Given the description of an element on the screen output the (x, y) to click on. 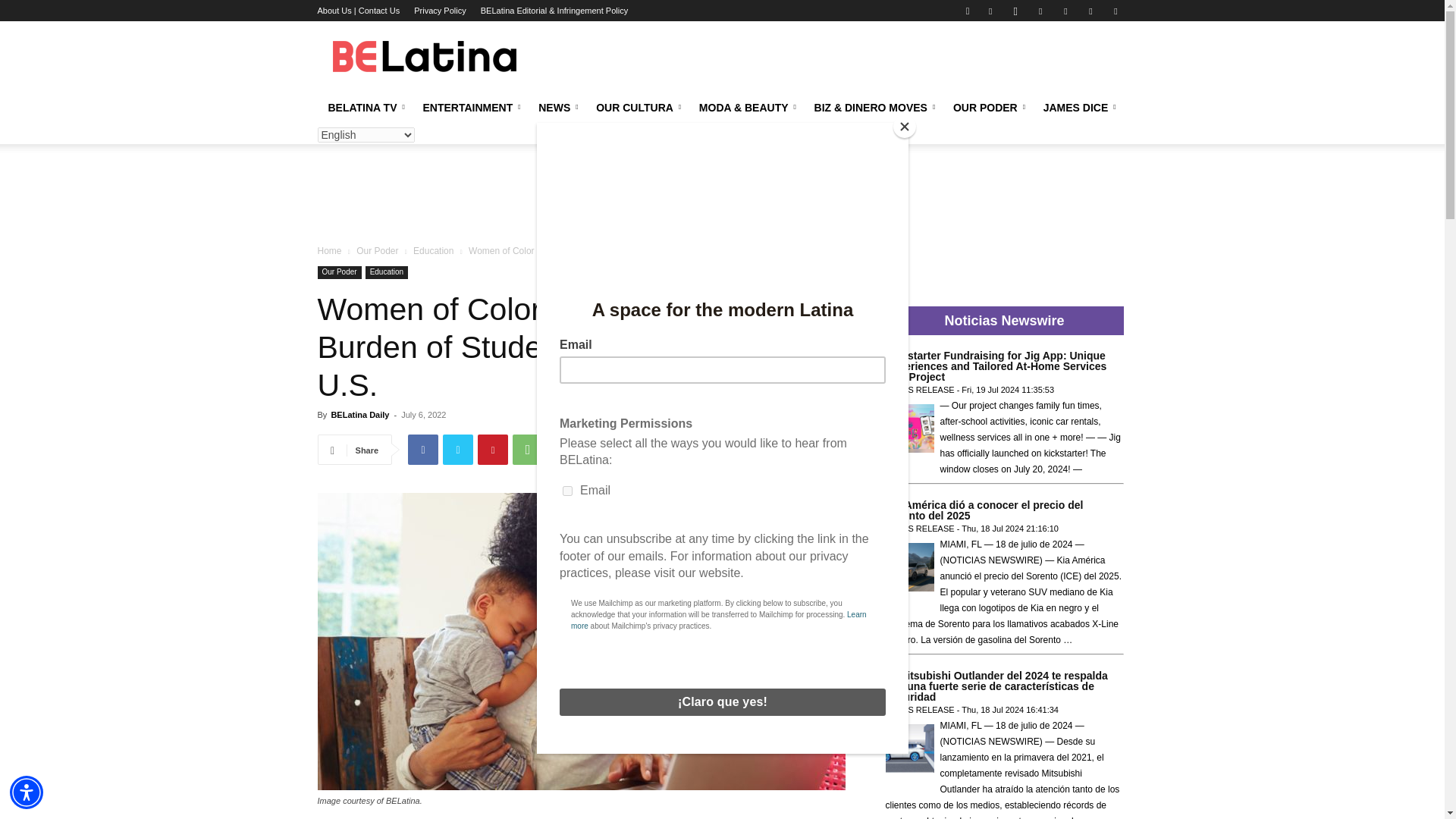
Linkedin (1040, 10)
Accessibility Menu (26, 792)
Twitter (1114, 10)
RSS (1090, 10)
Instagram (1015, 10)
Pinterest (1065, 10)
Facebook (989, 10)
